Given the description of an element on the screen output the (x, y) to click on. 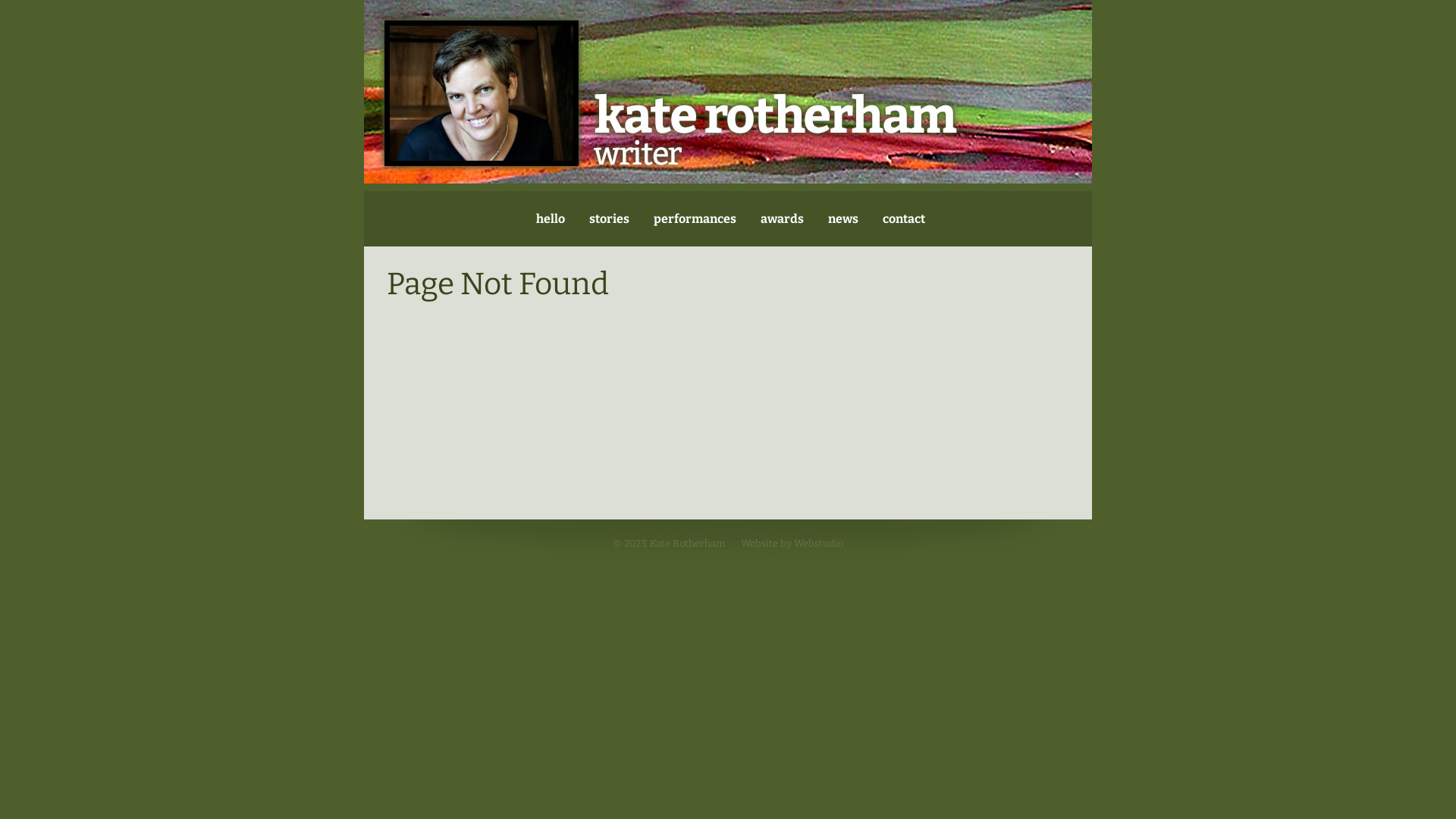
hello Element type: text (549, 218)
performances Element type: text (694, 218)
news Element type: text (842, 218)
stories Element type: text (608, 218)
Website by Webstudio Element type: text (791, 543)
awards Element type: text (781, 218)
contact Element type: text (903, 218)
